Given the description of an element on the screen output the (x, y) to click on. 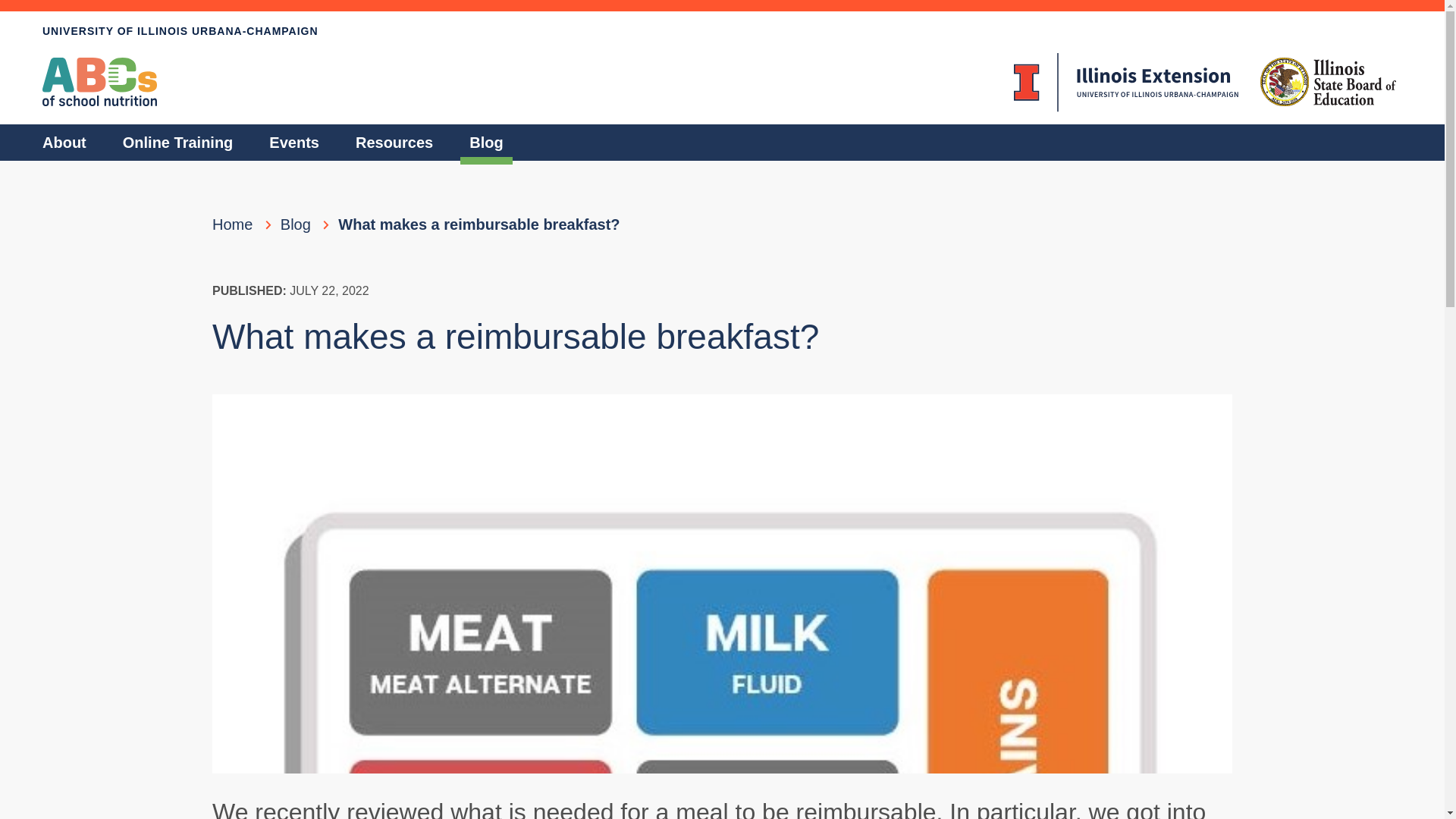
Online Training (177, 142)
Blog (486, 142)
Home (231, 224)
Events (293, 142)
About (64, 142)
Blog (296, 224)
UNIVERSITY OF ILLINOIS URBANA-CHAMPAIGN (722, 31)
Resources (394, 142)
